Given the description of an element on the screen output the (x, y) to click on. 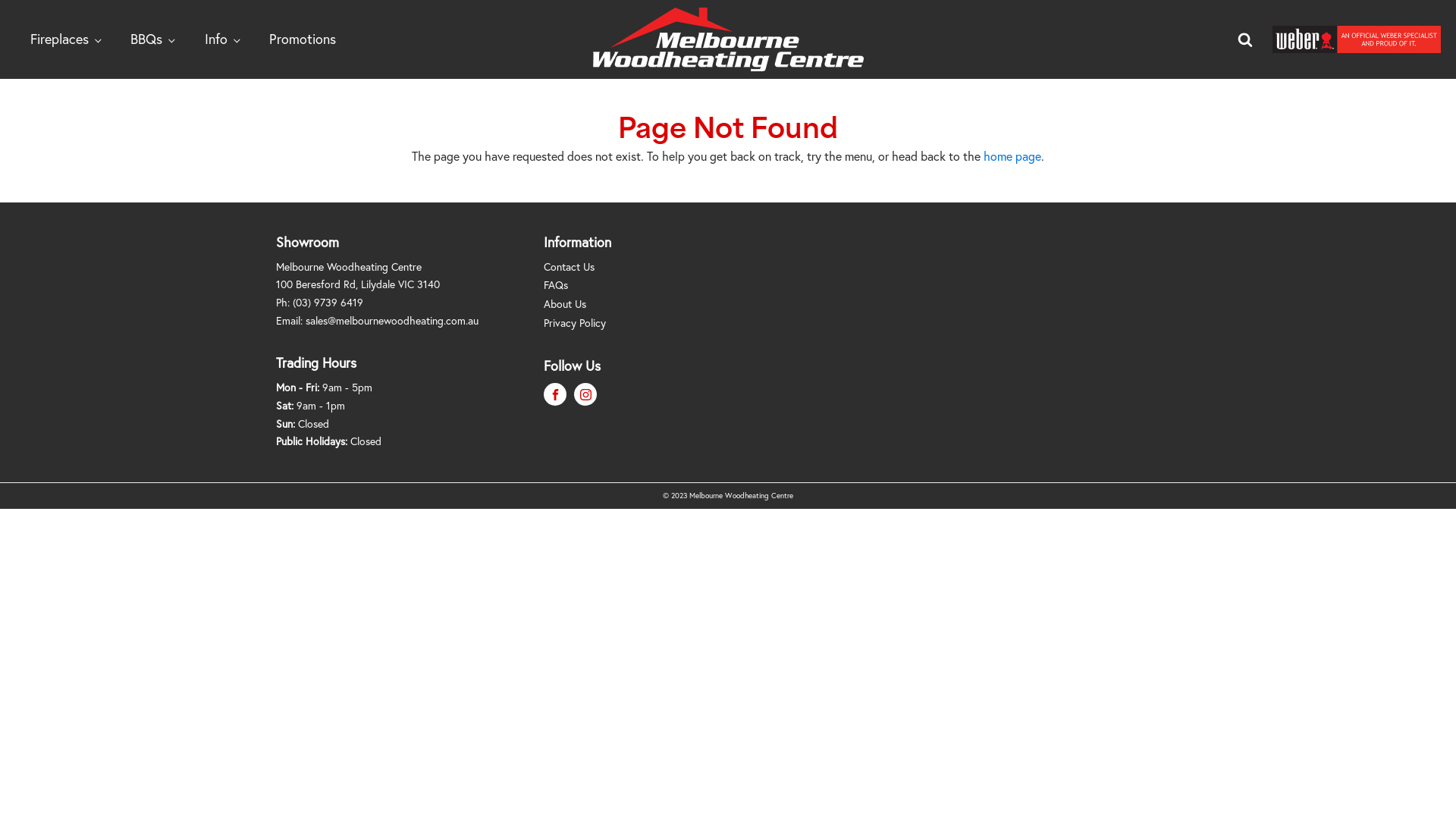
BBQs Element type: text (151, 38)
Contact Us Element type: text (582, 268)
100 Beresford Rd, Lilydale VIC 3140 Element type: text (357, 283)
home page Element type: text (1012, 155)
About Us Element type: text (582, 305)
Info Element type: text (221, 38)
Fireplaces Element type: text (65, 38)
sales@melbournewoodheating.com.au Element type: text (391, 320)
Promotions Element type: text (302, 38)
FAQs Element type: text (582, 286)
Privacy Policy Element type: text (582, 324)
(03) 9739 6419 Element type: text (327, 301)
Search Element type: text (25, 9)
